Given the description of an element on the screen output the (x, y) to click on. 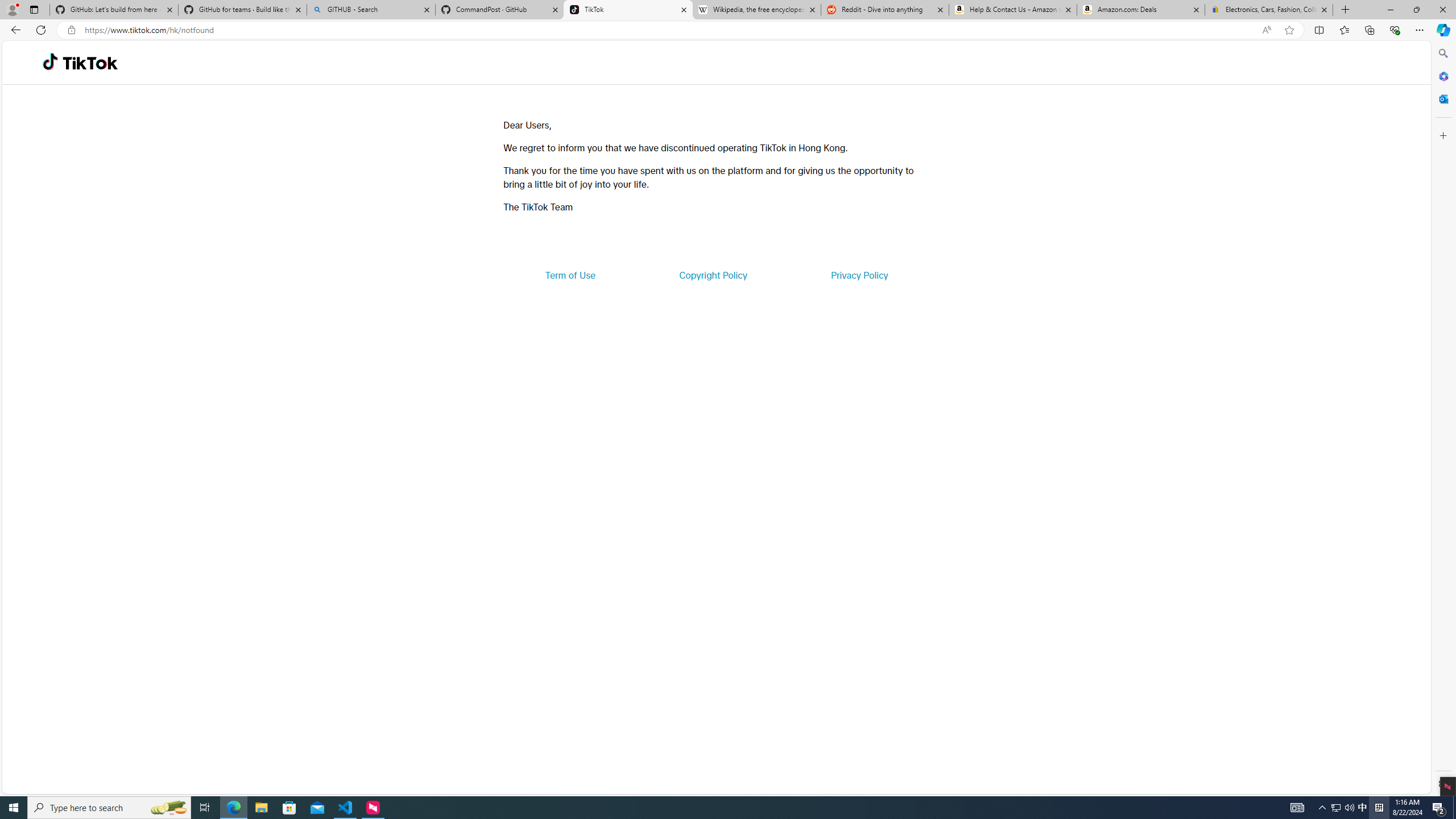
Amazon.com: Deals (1140, 9)
